Given the description of an element on the screen output the (x, y) to click on. 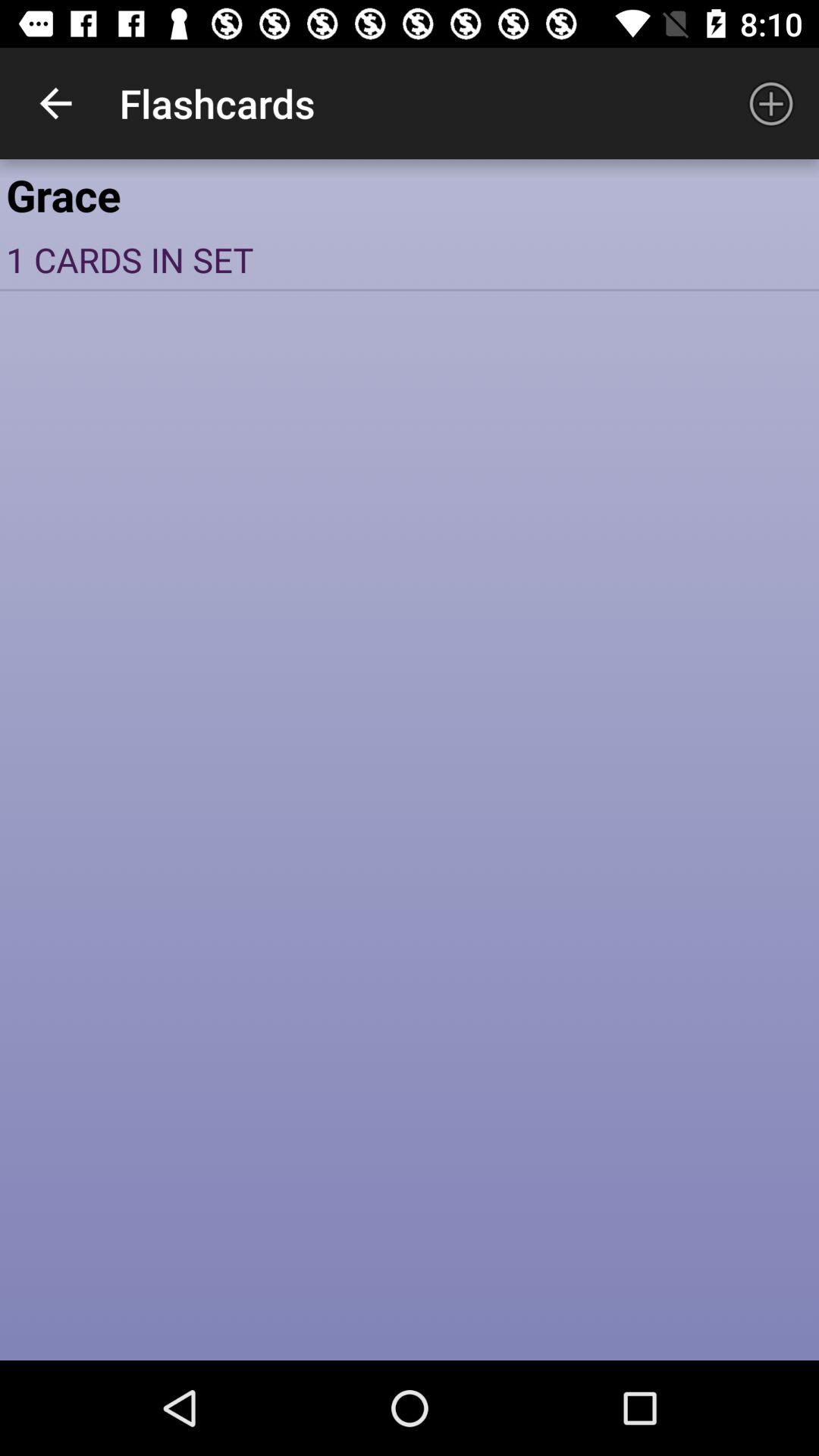
launch item below the grace (409, 259)
